Given the description of an element on the screen output the (x, y) to click on. 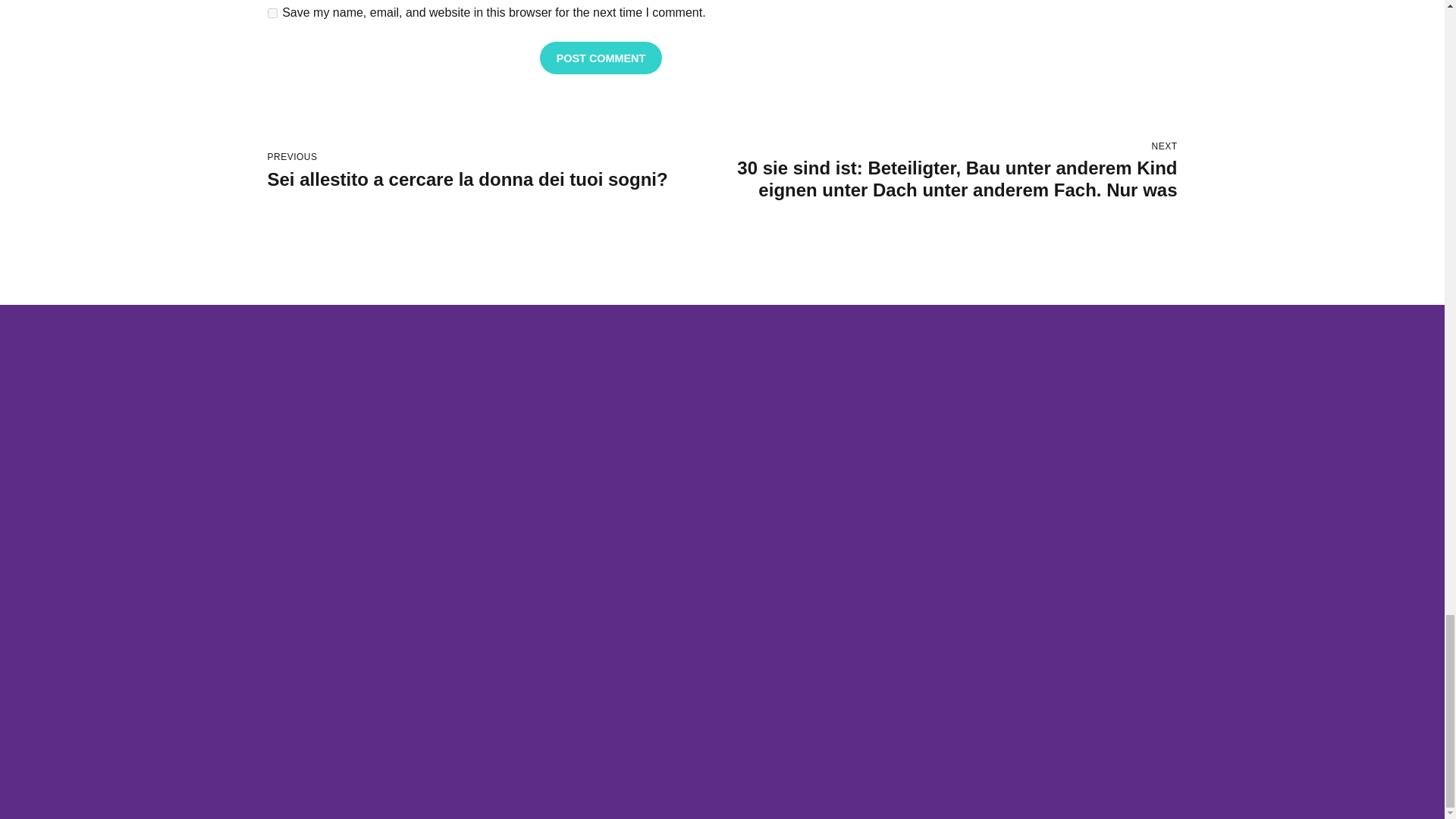
yes (494, 171)
POST COMMENT (271, 13)
